Given the description of an element on the screen output the (x, y) to click on. 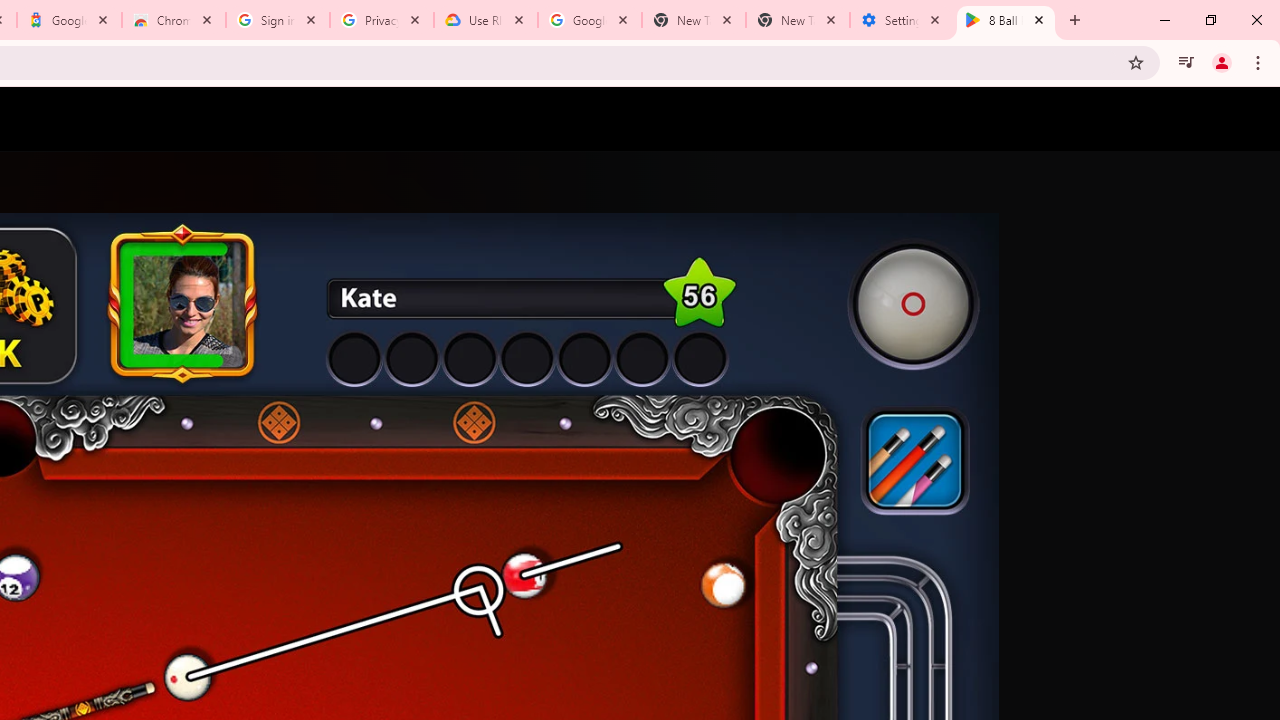
8 Ball Pool - Apps on Google Play (1005, 20)
Sign in - Google Accounts (278, 20)
